Given the description of an element on the screen output the (x, y) to click on. 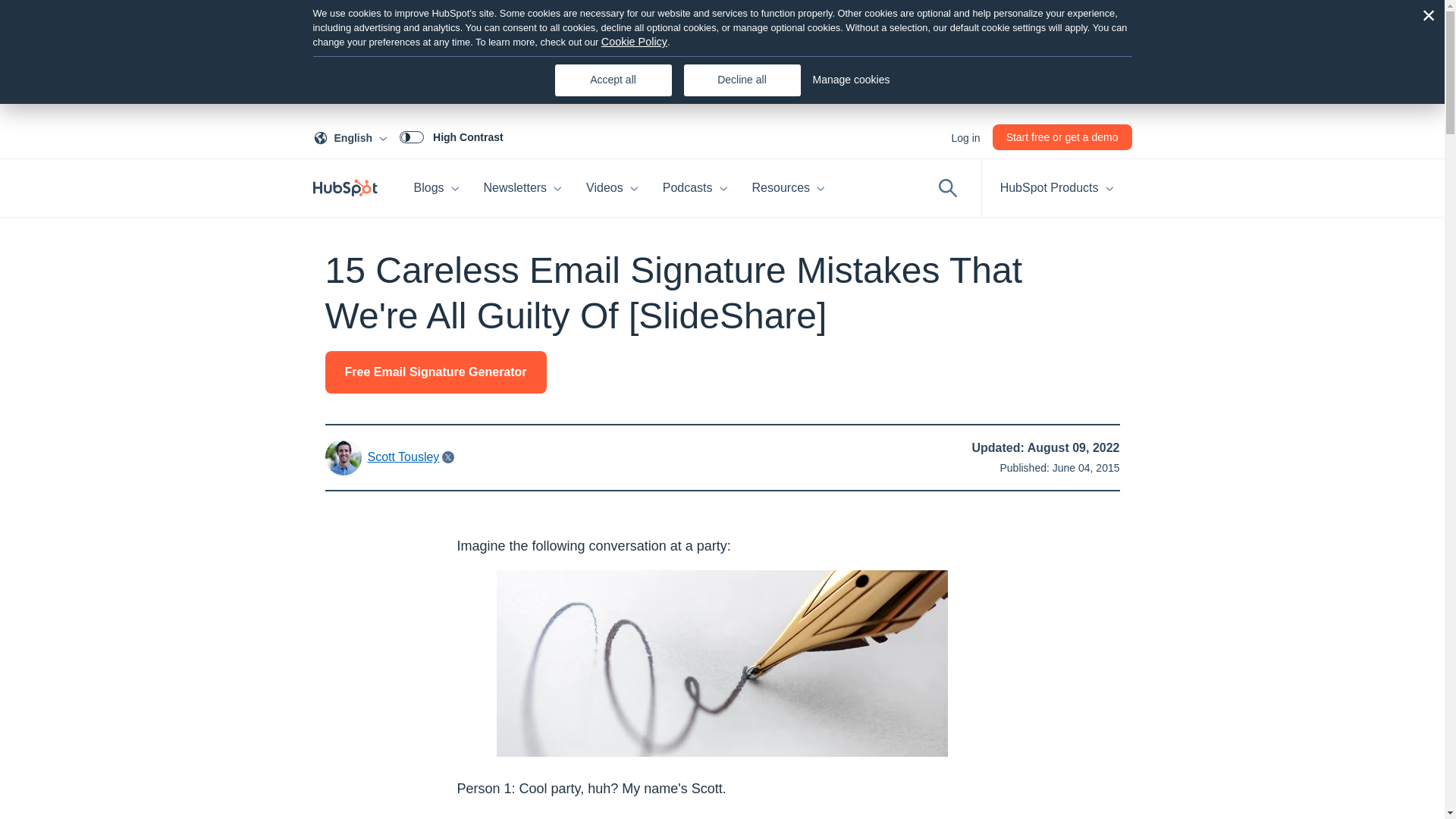
Start free or get a demo (1062, 136)
Log in (964, 137)
High Contrast (353, 136)
Newsletters (450, 137)
Blogs (523, 187)
